Given the description of an element on the screen output the (x, y) to click on. 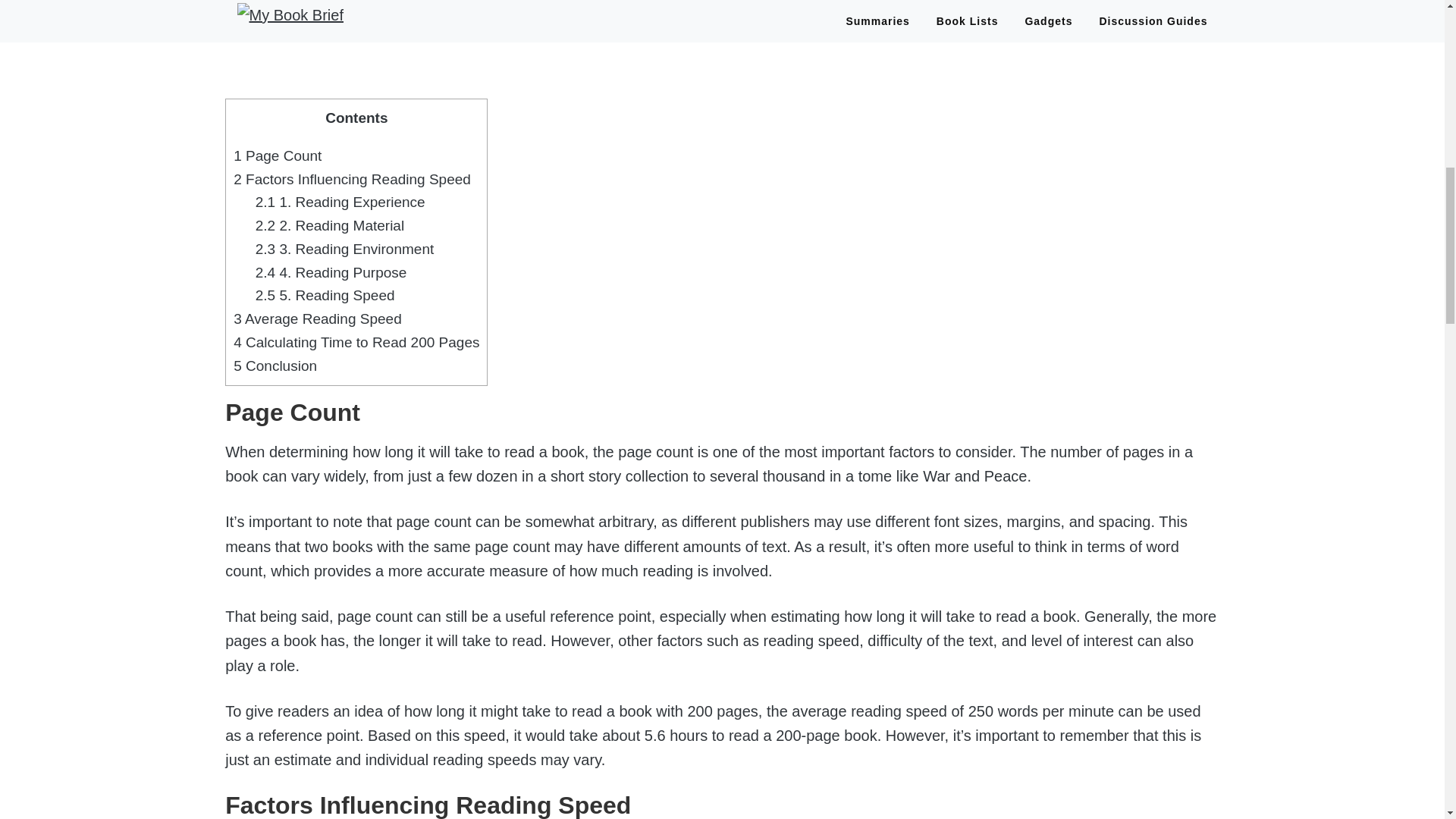
2 Factors Influencing Reading Speed (351, 179)
4 Calculating Time to Read 200 Pages (355, 342)
2.5 5. Reading Speed (325, 295)
2.2 2. Reading Material (330, 225)
2.4 4. Reading Purpose (331, 272)
2.1 1. Reading Experience (340, 201)
1 Page Count (276, 155)
2.3 3. Reading Environment (344, 248)
3 Average Reading Speed (316, 318)
5 Conclusion (274, 365)
